Given the description of an element on the screen output the (x, y) to click on. 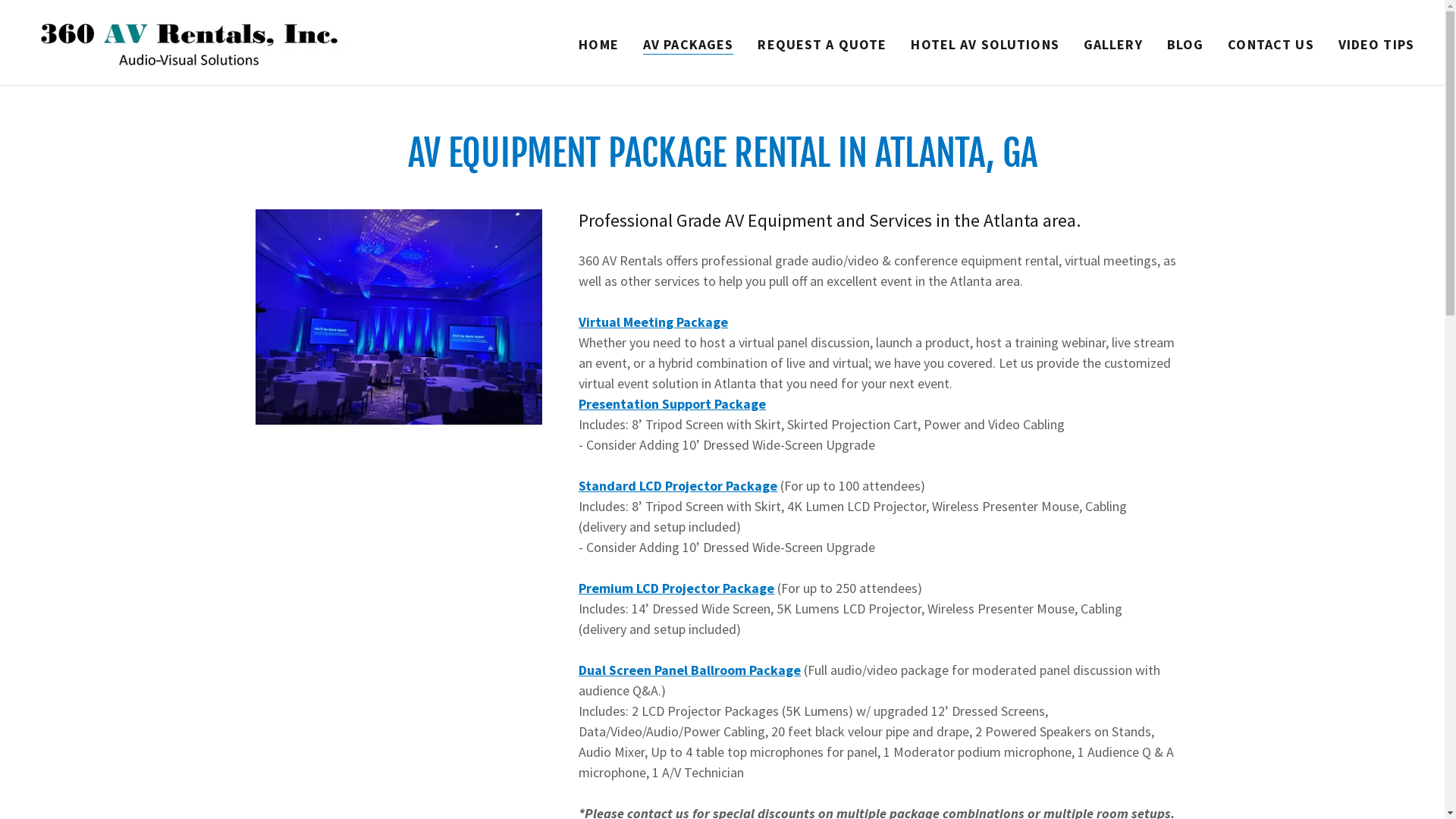
HOTEL AV SOLUTIONS Element type: text (984, 43)
BLOG Element type: text (1185, 43)
Presentation Support Package Element type: text (671, 403)
REQUEST A QUOTE Element type: text (822, 43)
CONTACT US Element type: text (1270, 43)
HOME Element type: text (598, 43)
Premium LCD Projector Package Element type: text (676, 587)
Standard LCD Projector Package Element type: text (677, 485)
Virtual Meeting Package Element type: text (653, 321)
GALLERY Element type: text (1113, 43)
AV PACKAGES Element type: text (688, 43)
Dual Screen Panel Ballroom Package Element type: text (689, 669)
VIDEO TIPS Element type: text (1375, 43)
360 AV Rentals Element type: hover (204, 40)
